Given the description of an element on the screen output the (x, y) to click on. 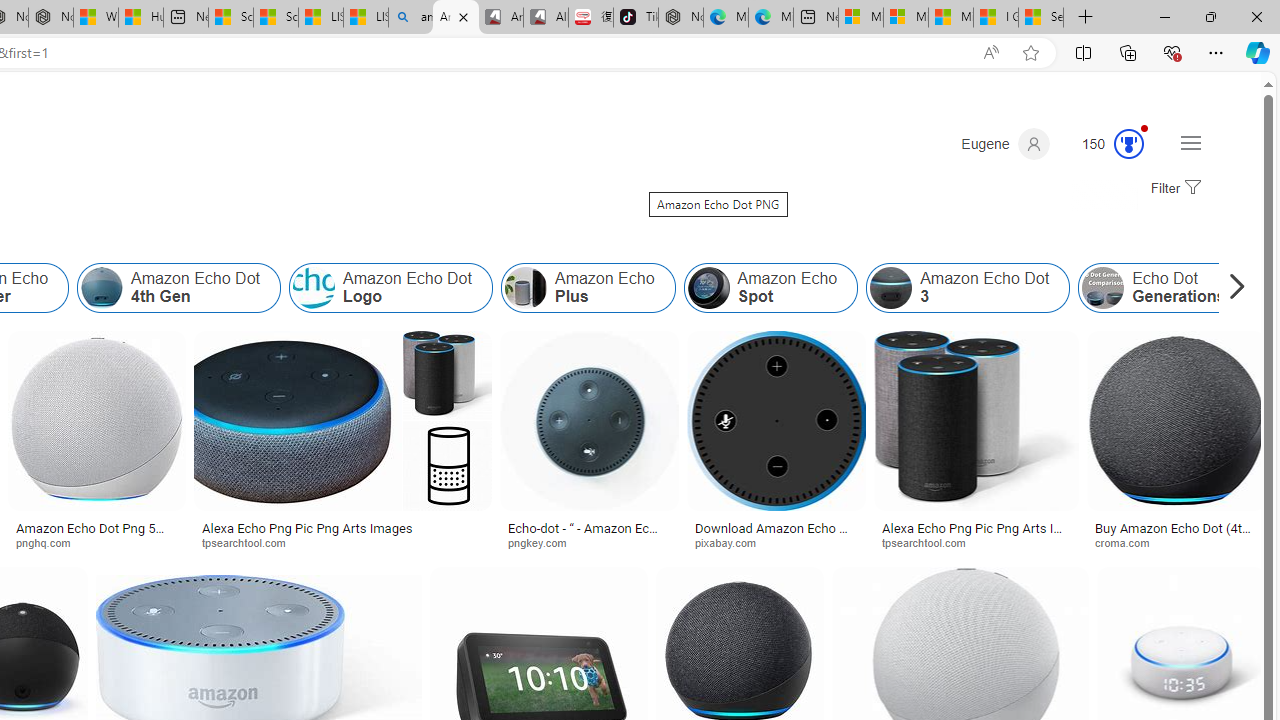
Amazon Echo Dot 4th Gen (179, 287)
pixabay.com (732, 541)
croma.com (1128, 541)
Image result for Amazon Echo Dot PNG (1175, 421)
Alexa Echo Png Pic Png Arts Imagestpsearchtool.comSave (347, 444)
Nordace - Best Sellers (680, 17)
Scroll right (1231, 287)
